Given the description of an element on the screen output the (x, y) to click on. 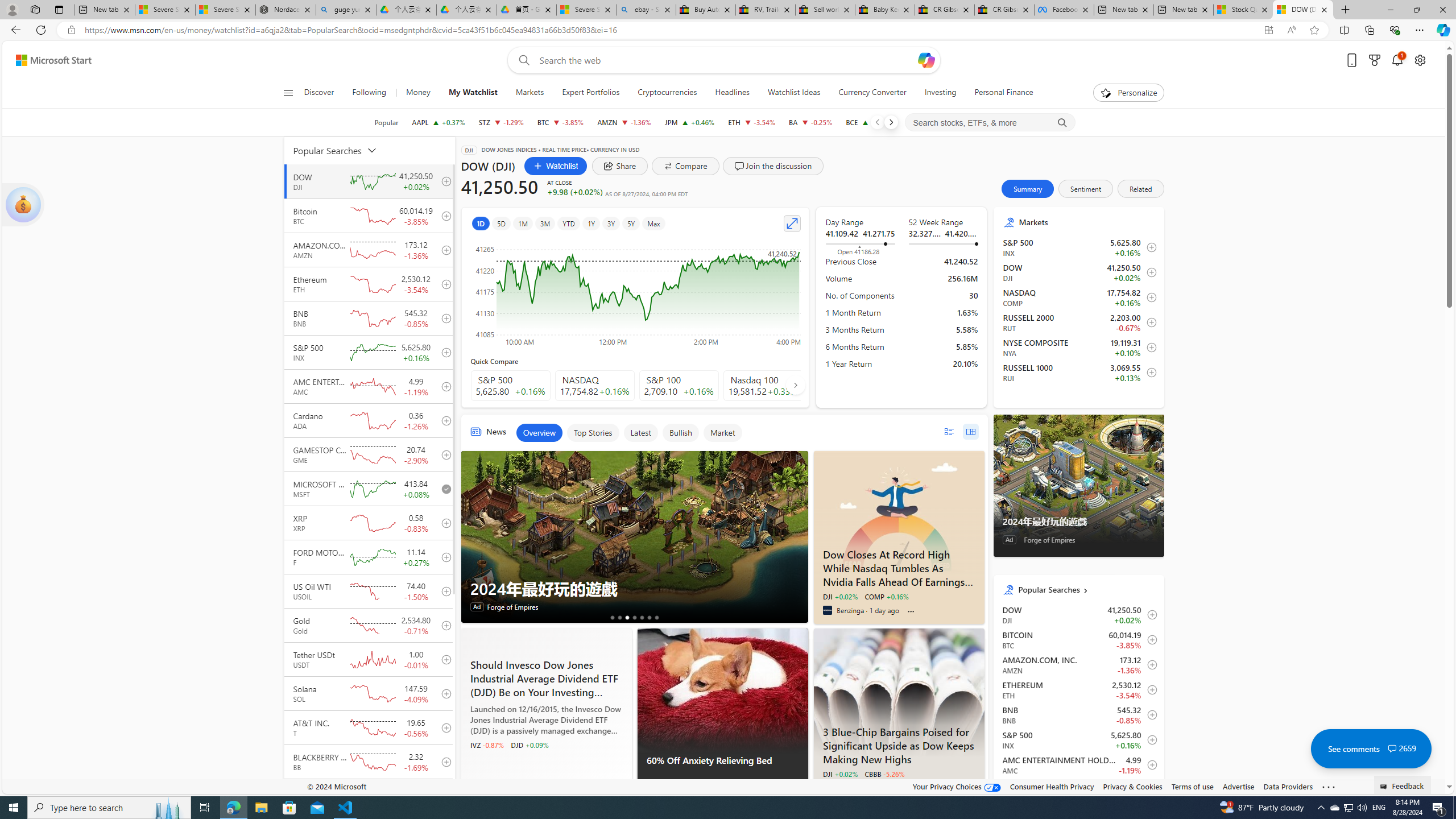
Currency Converter (872, 92)
Watchlist Ideas (794, 92)
Sell worldwide with eBay (825, 9)
Popular Searches (341, 150)
DJI DOW increase 41,250.50 +9.98 +0.02% itemundefined (1078, 614)
AdChoices (798, 789)
Investing (940, 92)
Enter your search term (726, 59)
AMZN AMAZON.COM, INC. decrease 173.12 -2.38 -1.36% (623, 122)
Headlines (732, 92)
add to your watchlist (442, 795)
